Given the description of an element on the screen output the (x, y) to click on. 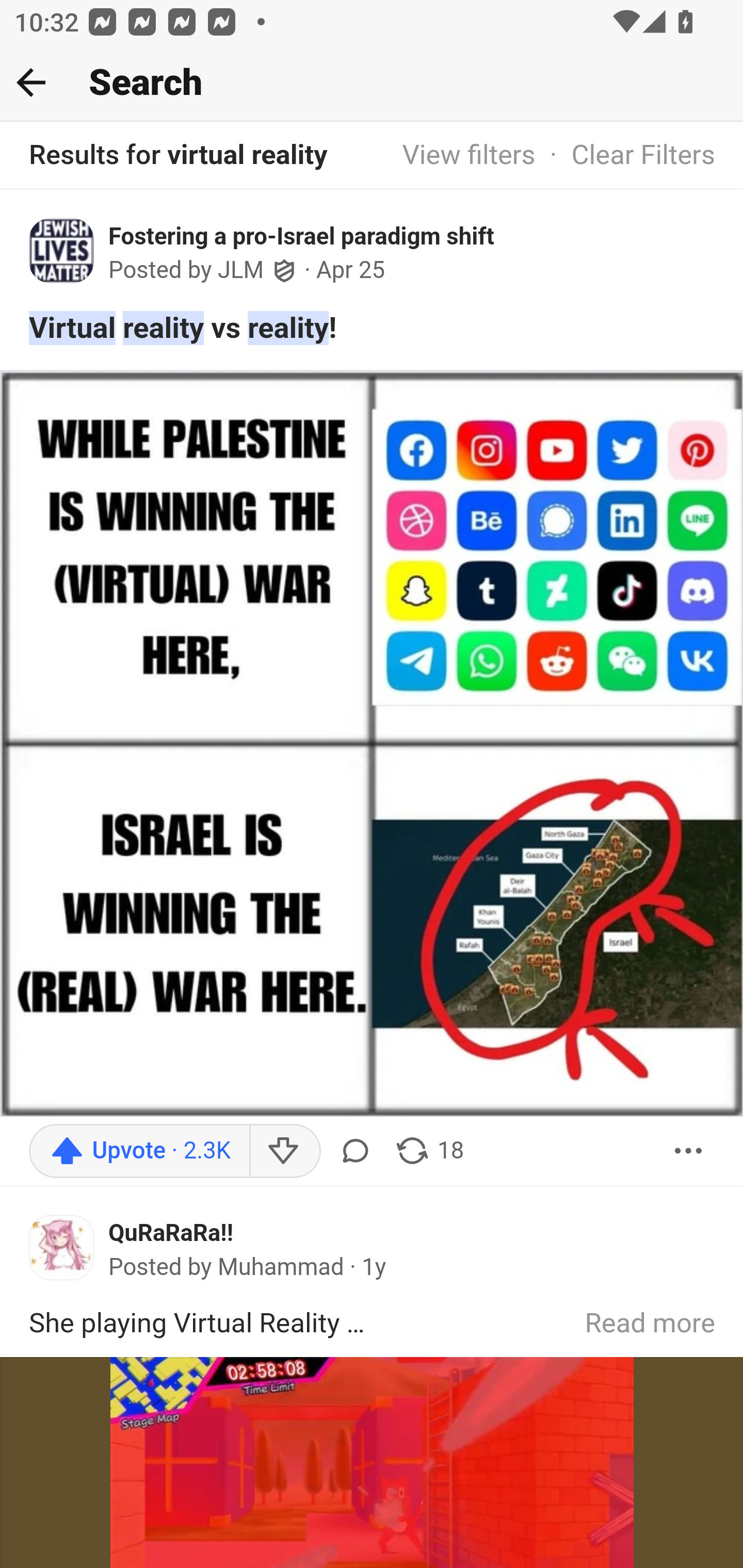
Back Search (371, 82)
Back (30, 82)
View filters (468, 155)
· Clear Filters · Clear Filters (625, 155)
Icon for Fostering a pro-Israel paradigm shift (61, 249)
Fostering a pro-Israel paradigm shift (301, 235)
JLM (240, 271)
Apr 25 (350, 270)
Upvote (138, 1150)
Downvote (283, 1150)
Comment (355, 1150)
18 shares (428, 1150)
More (688, 1150)
Icon for QuRaRaRa!! (61, 1247)
QuRaRaRa!! (171, 1233)
Muhammad (280, 1266)
1y 1 y (374, 1266)
